Given the description of an element on the screen output the (x, y) to click on. 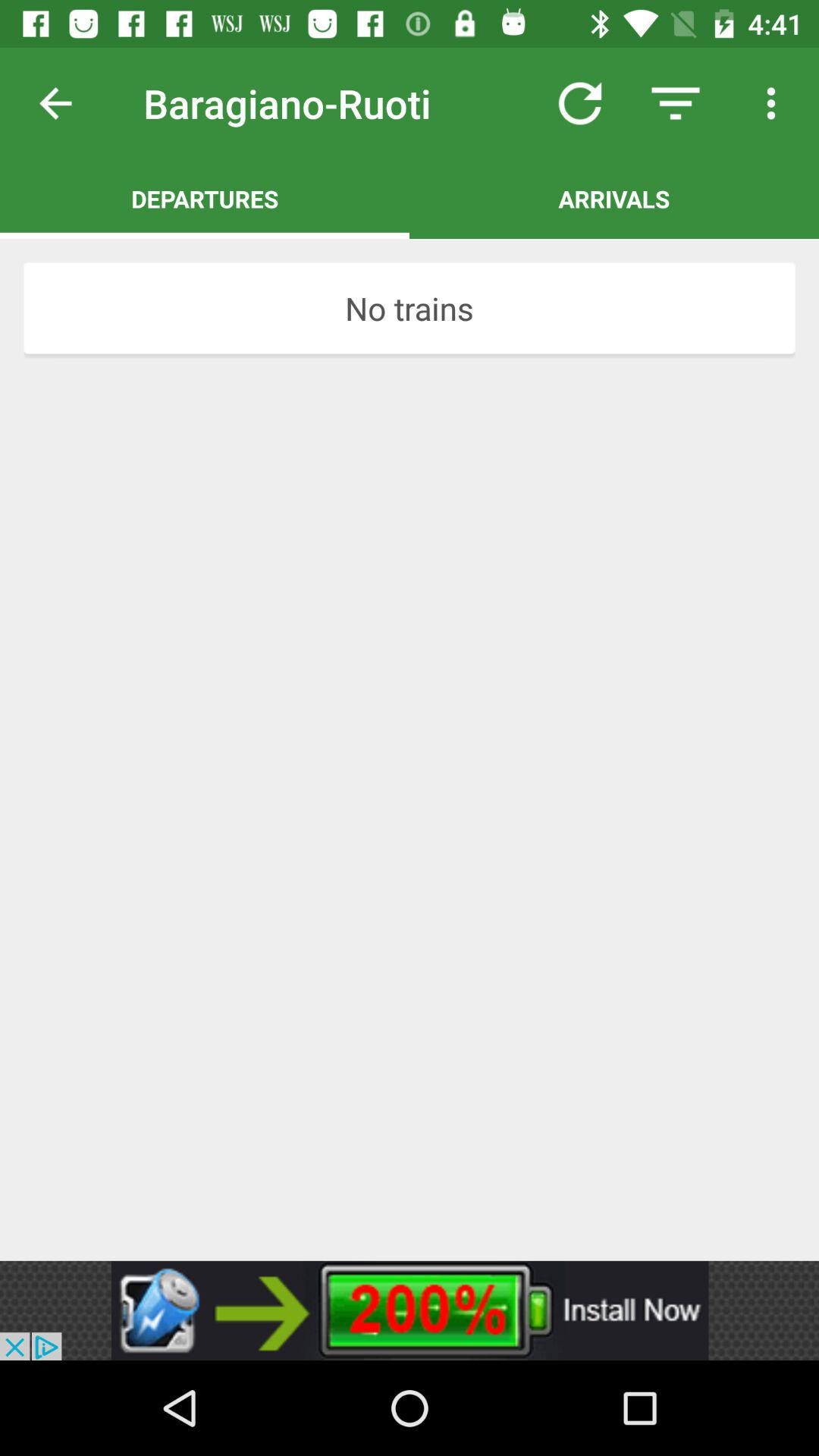
go back (67, 103)
